Given the description of an element on the screen output the (x, y) to click on. 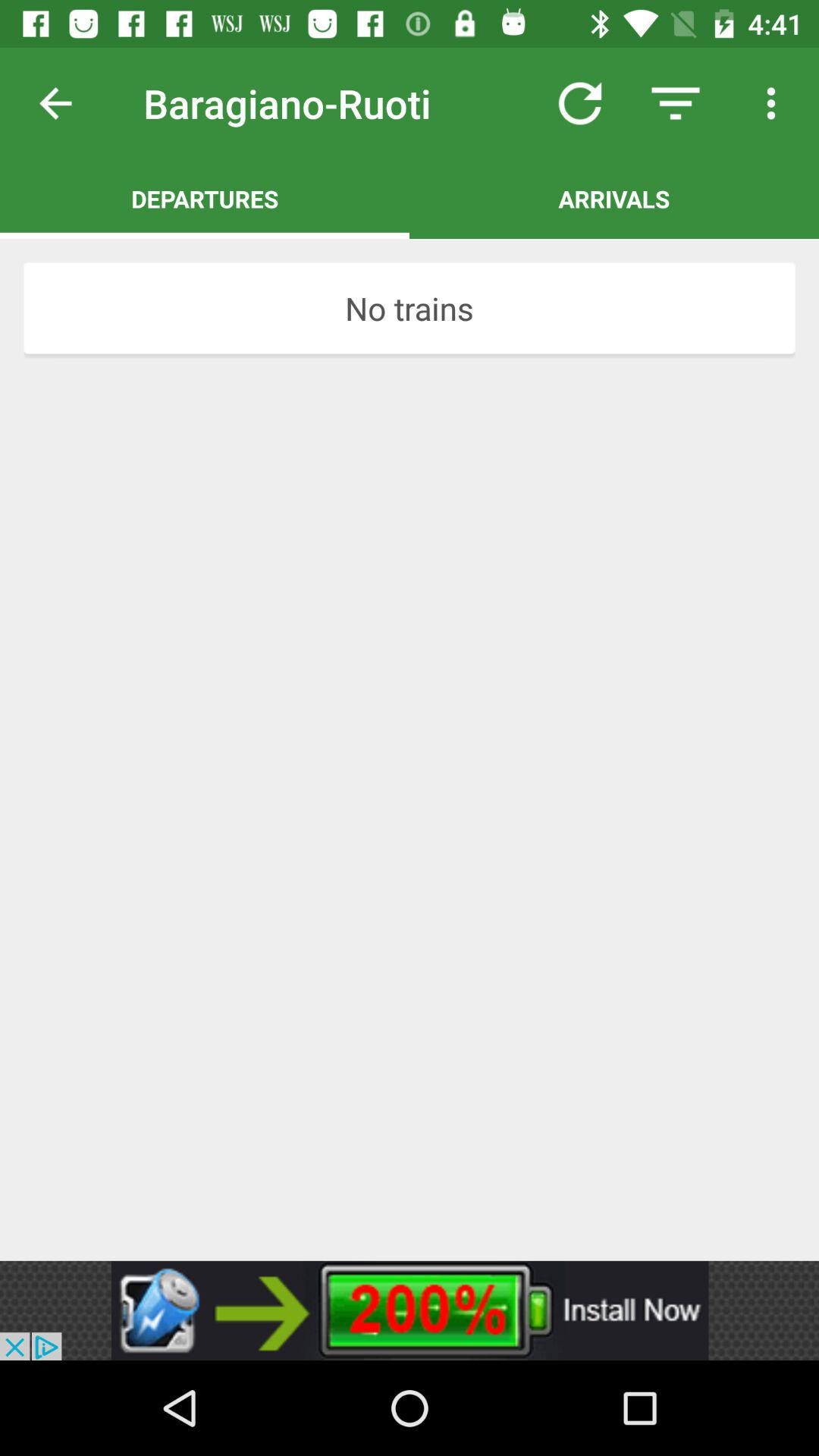
go back (67, 103)
